Given the description of an element on the screen output the (x, y) to click on. 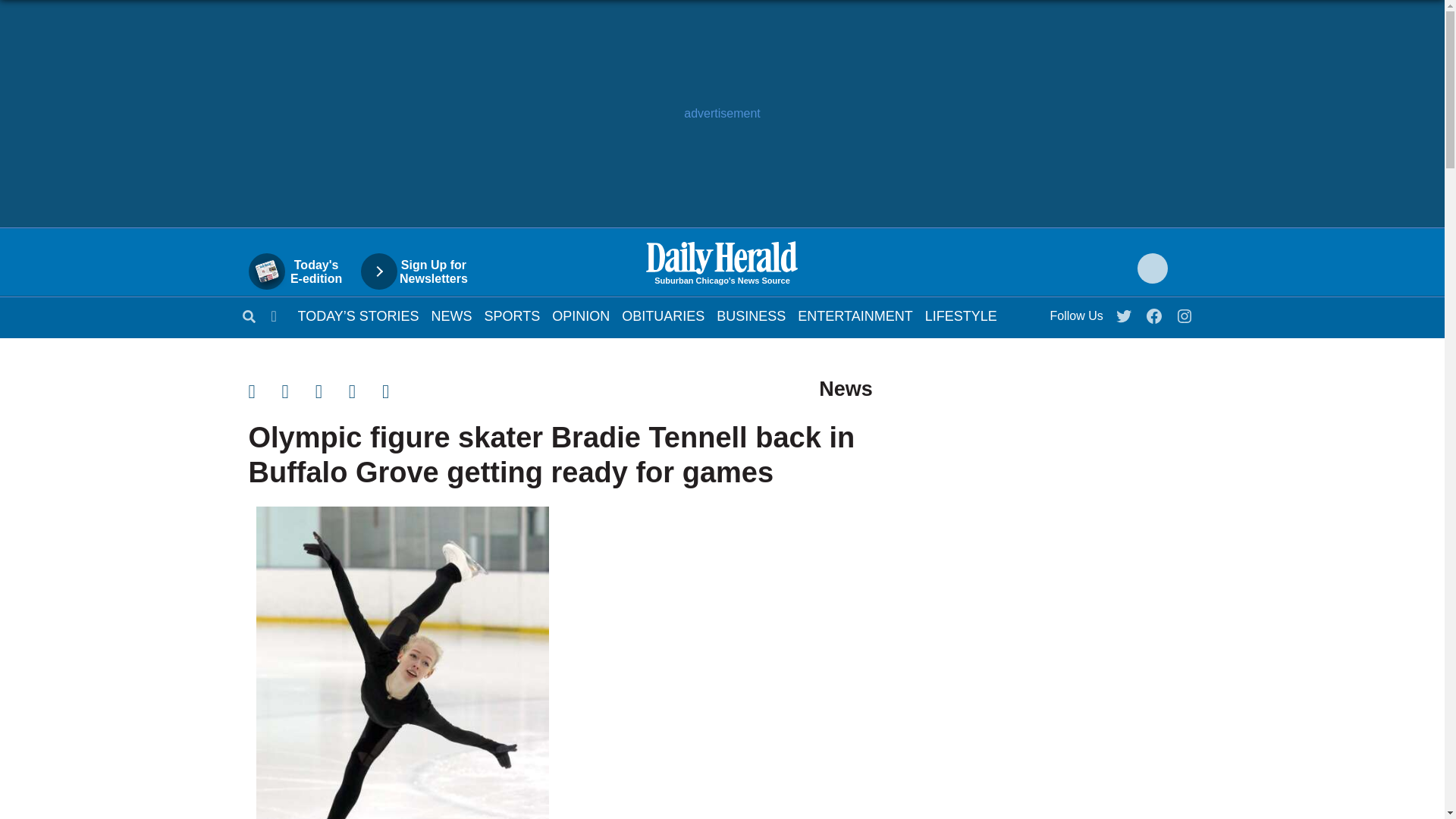
Lifestyle (960, 315)
Entertainment (854, 315)
LIFESTYLE (960, 315)
NEWS (450, 315)
Business (751, 315)
OBITUARIES (662, 315)
Share via Email (332, 391)
Facebook (1155, 312)
BUSINESS (751, 315)
Sign Up for Newsletters (421, 271)
Instagram (1184, 312)
Sports (512, 315)
OPINION (303, 271)
Twitter (580, 315)
